Given the description of an element on the screen output the (x, y) to click on. 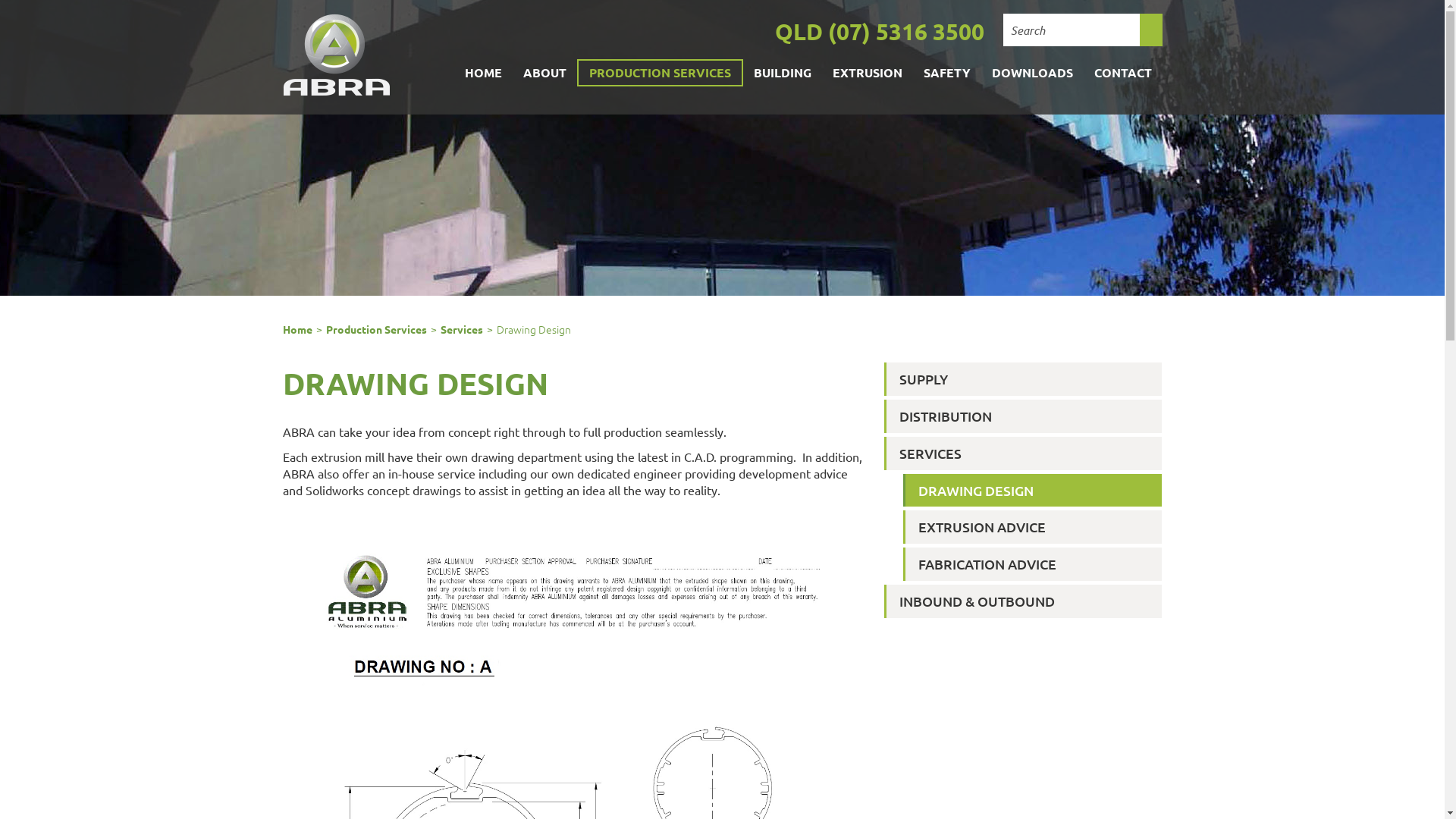
SERVICES Element type: text (1023, 453)
DISTRIBUTION Element type: text (1023, 416)
FABRICATION ADVICE Element type: text (1032, 563)
CONTACT Element type: text (1121, 72)
EXTRUSION ADVICE Element type: text (1032, 526)
Services Element type: text (460, 328)
BUILDING Element type: text (782, 72)
DOWNLOADS Element type: text (1032, 72)
Home Element type: text (296, 328)
SUPPLY Element type: text (1023, 378)
HOME Element type: text (482, 72)
PRODUCTION SERVICES Element type: text (659, 72)
DRAWING DESIGN Element type: text (1032, 490)
Production Services Element type: text (376, 328)
ABOUT Element type: text (544, 72)
EXTRUSION Element type: text (867, 72)
SAFETY Element type: text (947, 72)
INBOUND & OUTBOUND Element type: text (1023, 601)
